Given the description of an element on the screen output the (x, y) to click on. 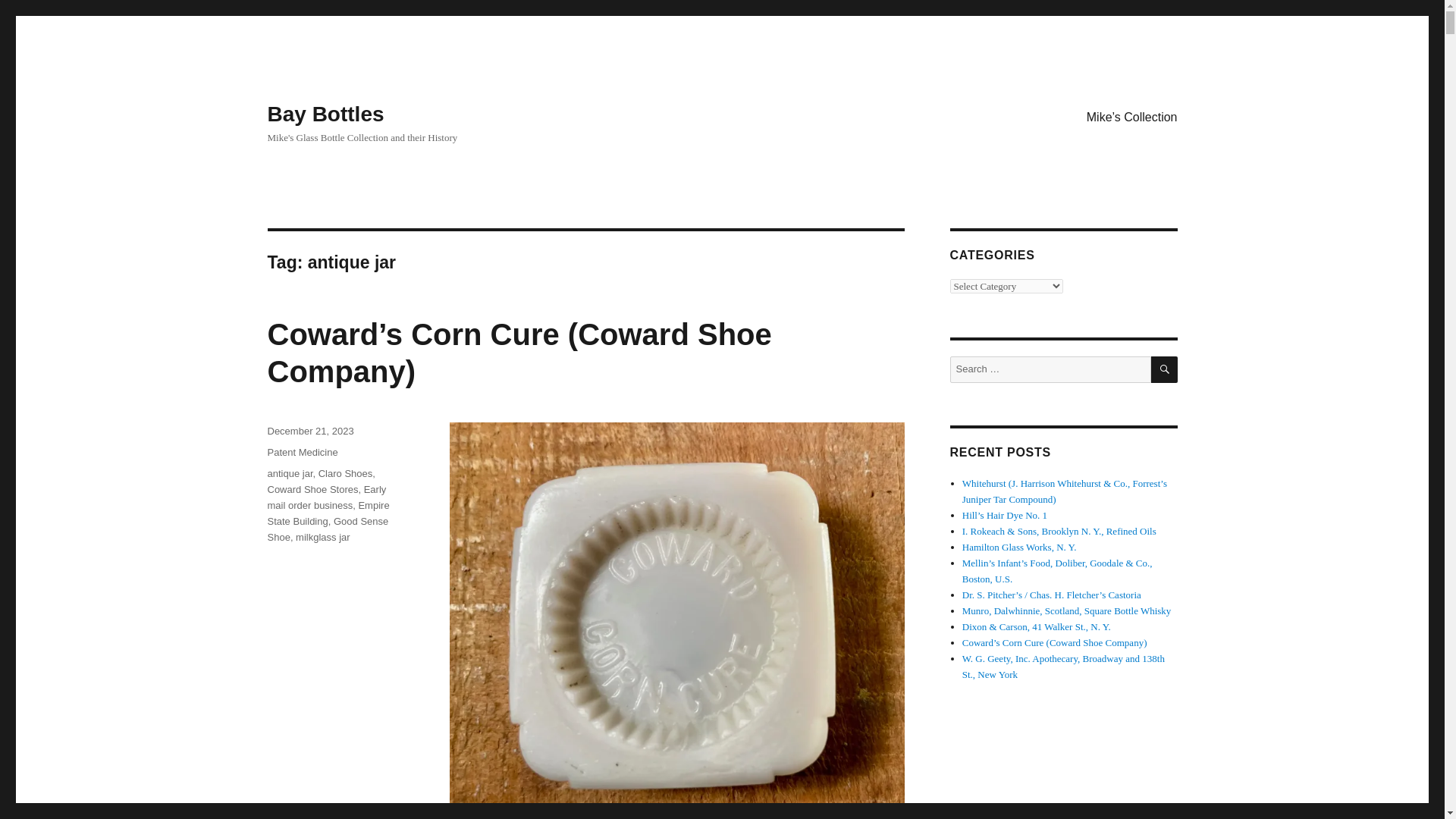
Coward Shoe Stores (312, 489)
milkglass jar (322, 536)
Bay Bottles (325, 114)
Early mail order business (325, 497)
Good Sense Shoe (327, 528)
Patent Medicine (301, 451)
antique jar (289, 473)
Claro Shoes (345, 473)
December 21, 2023 (309, 430)
Empire State Building (327, 513)
